Given the description of an element on the screen output the (x, y) to click on. 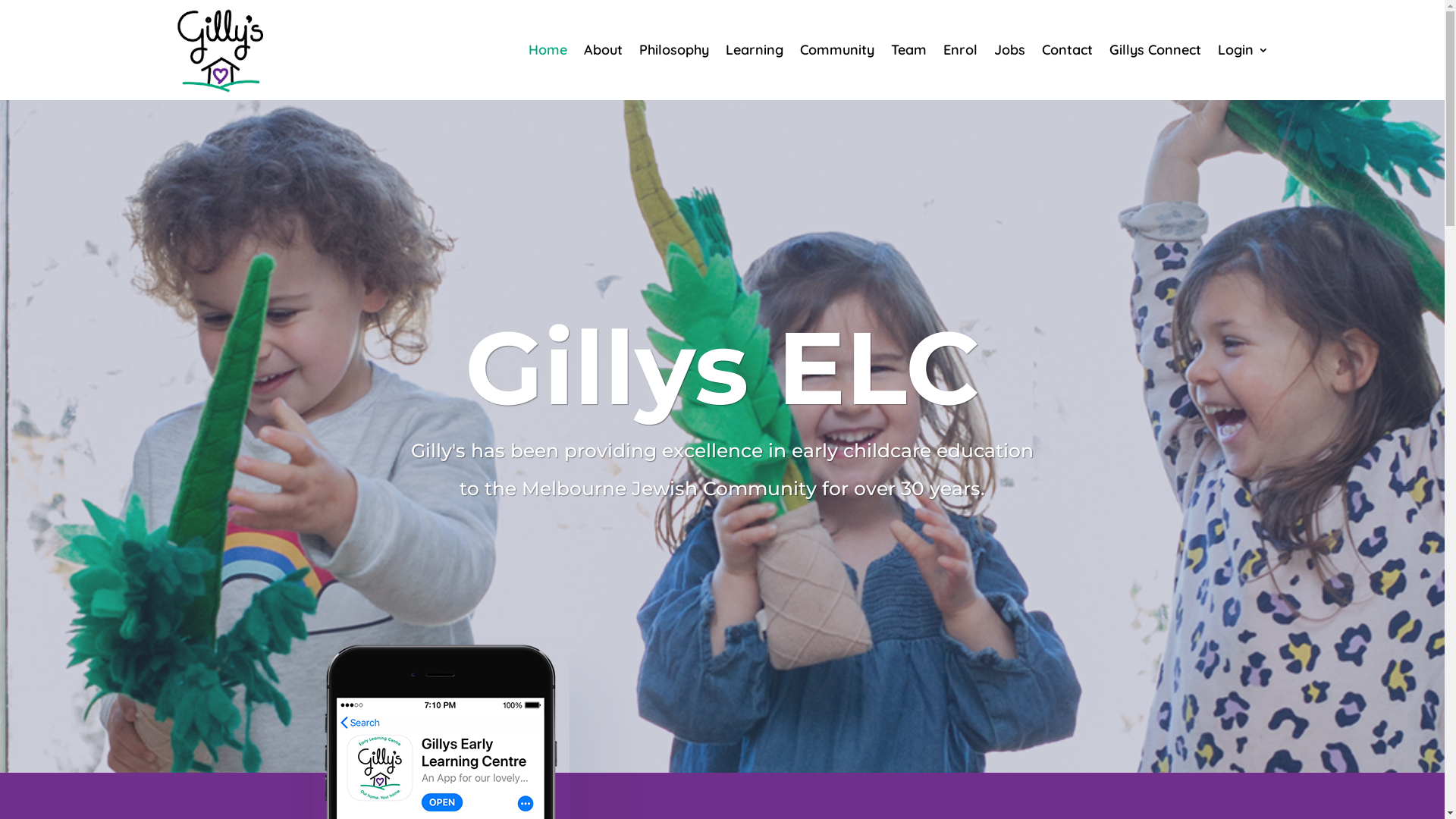
Community Element type: text (836, 49)
About Element type: text (602, 49)
Login Element type: text (1242, 49)
Enrol Element type: text (960, 49)
Jobs Element type: text (1008, 49)
Philosophy Element type: text (673, 49)
Gillys Connect Element type: text (1154, 49)
Learning Element type: text (753, 49)
Home Element type: text (546, 49)
Team Element type: text (907, 49)
Contact Element type: text (1066, 49)
